Given the description of an element on the screen output the (x, y) to click on. 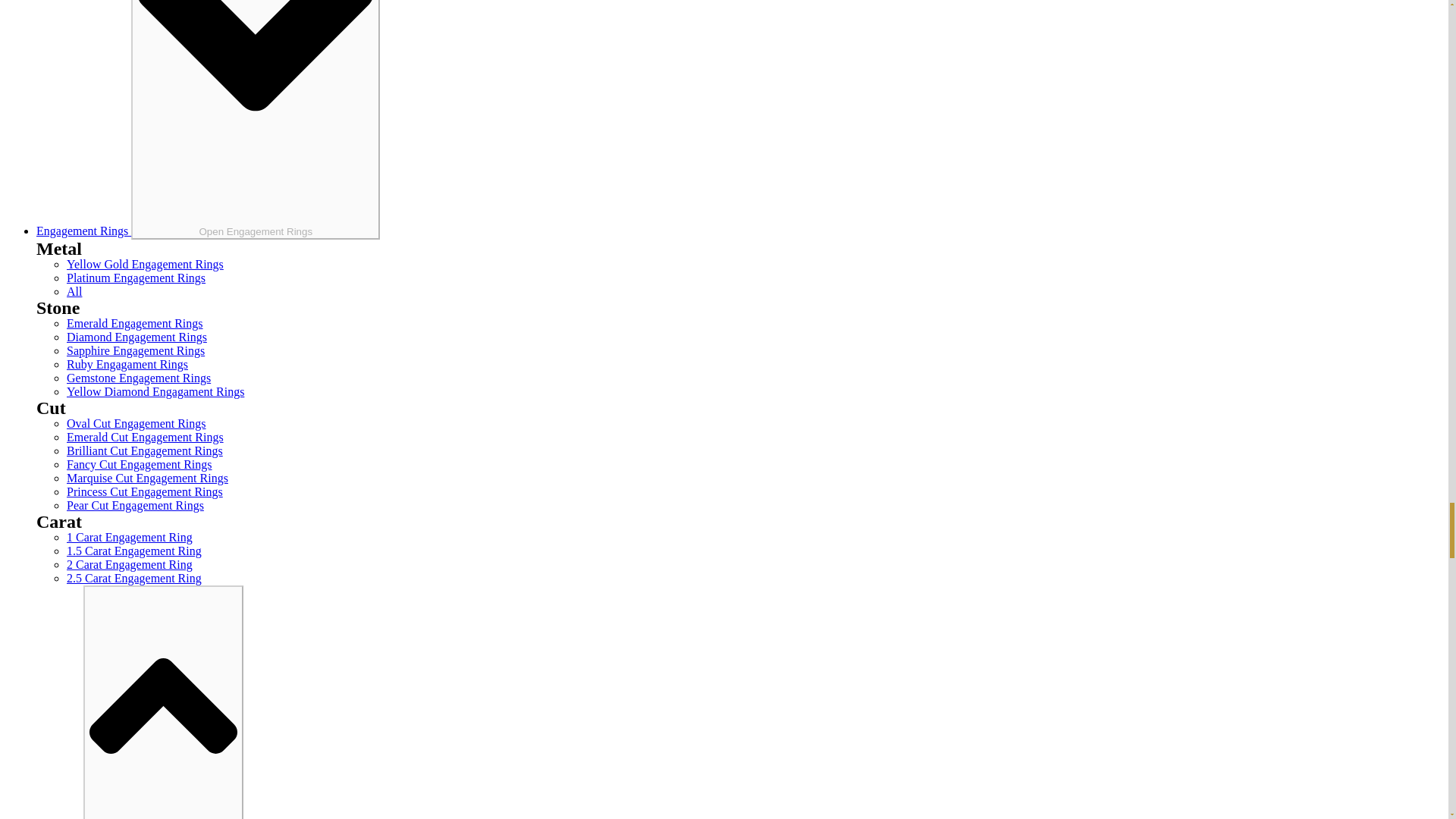
Diamond Engagement Rings (136, 336)
Gemstone Engagement Rings (138, 377)
Emerald Engagement Rings (134, 323)
Yellow Gold Engagement Rings (145, 264)
Platinum Engagement Rings (135, 277)
Close Engagement Rings Open Engagement Rings (255, 119)
All (73, 291)
Emerald Cut Engagement Rings (145, 436)
Ruby Engagament Rings (126, 364)
Brilliant Cut Engagement Rings (144, 450)
